Given the description of an element on the screen output the (x, y) to click on. 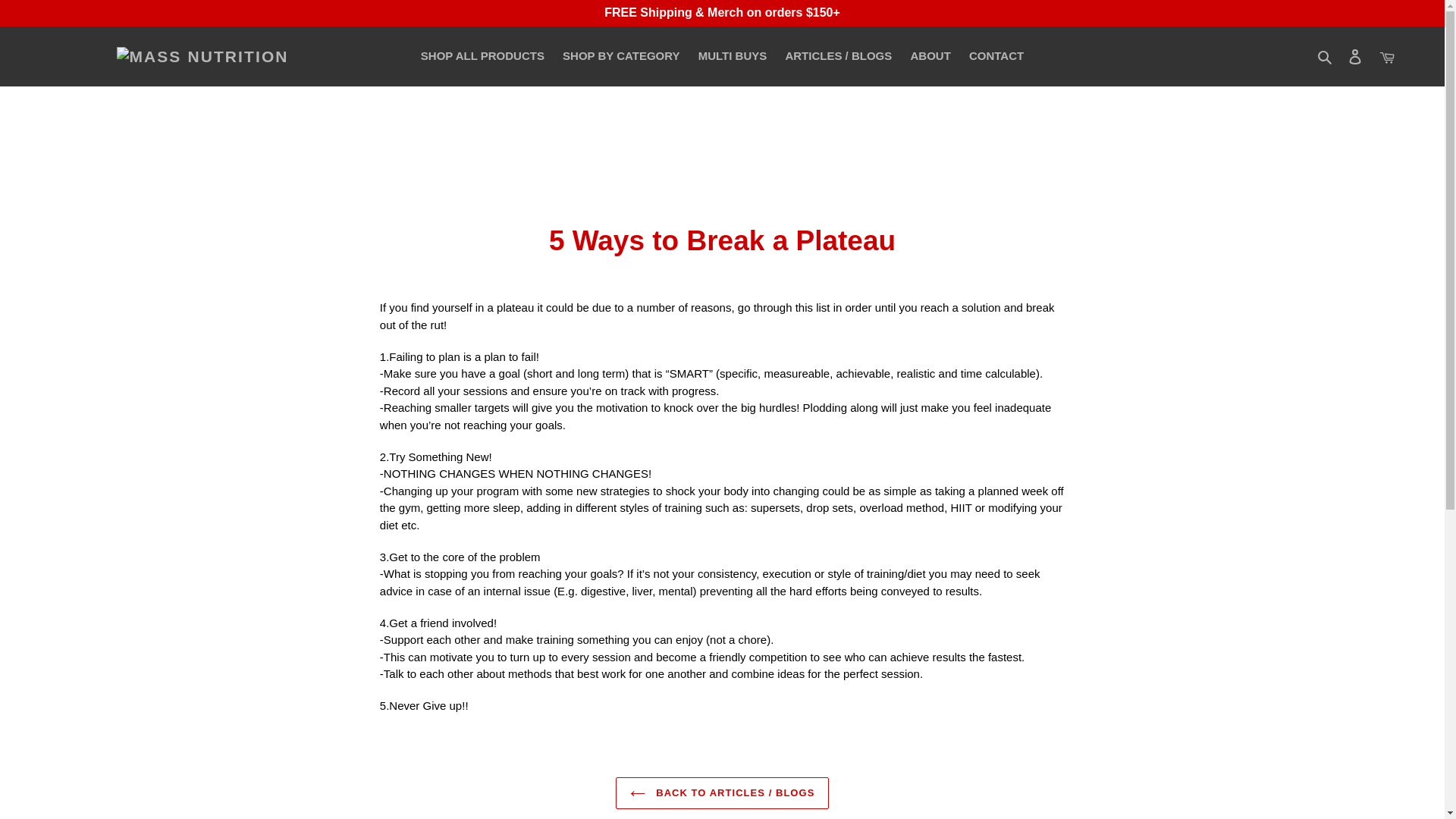
SHOP ALL PRODUCTS (482, 56)
Log in (1355, 56)
Cart (1387, 56)
ABOUT (930, 56)
CONTACT (995, 56)
Search (1326, 56)
SHOP BY CATEGORY (620, 56)
MULTI BUYS (732, 56)
